Given the description of an element on the screen output the (x, y) to click on. 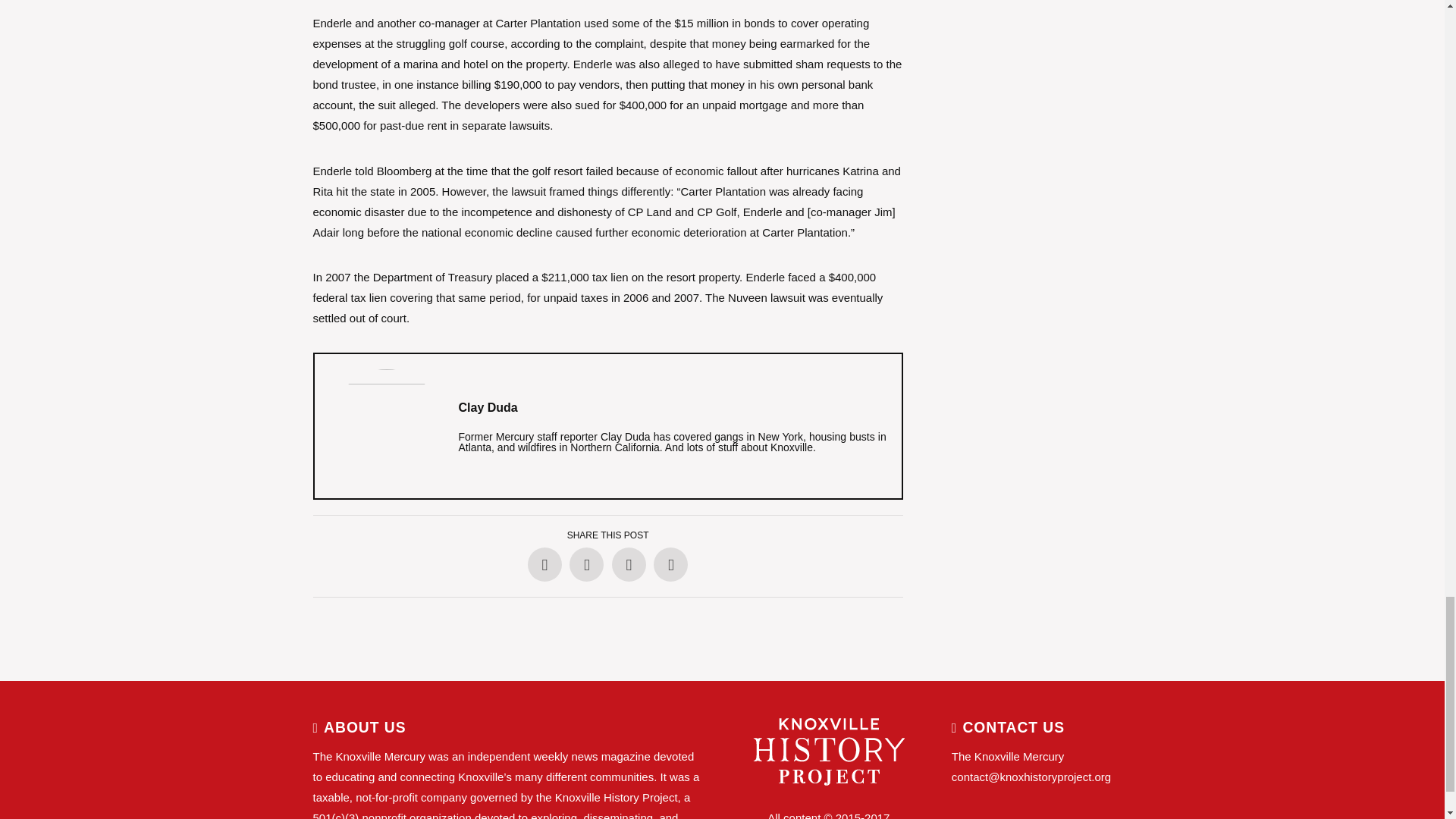
Share on Facebook (544, 564)
Share on X (586, 564)
Share via Email (670, 564)
Share on Pinterest (628, 564)
